Given the description of an element on the screen output the (x, y) to click on. 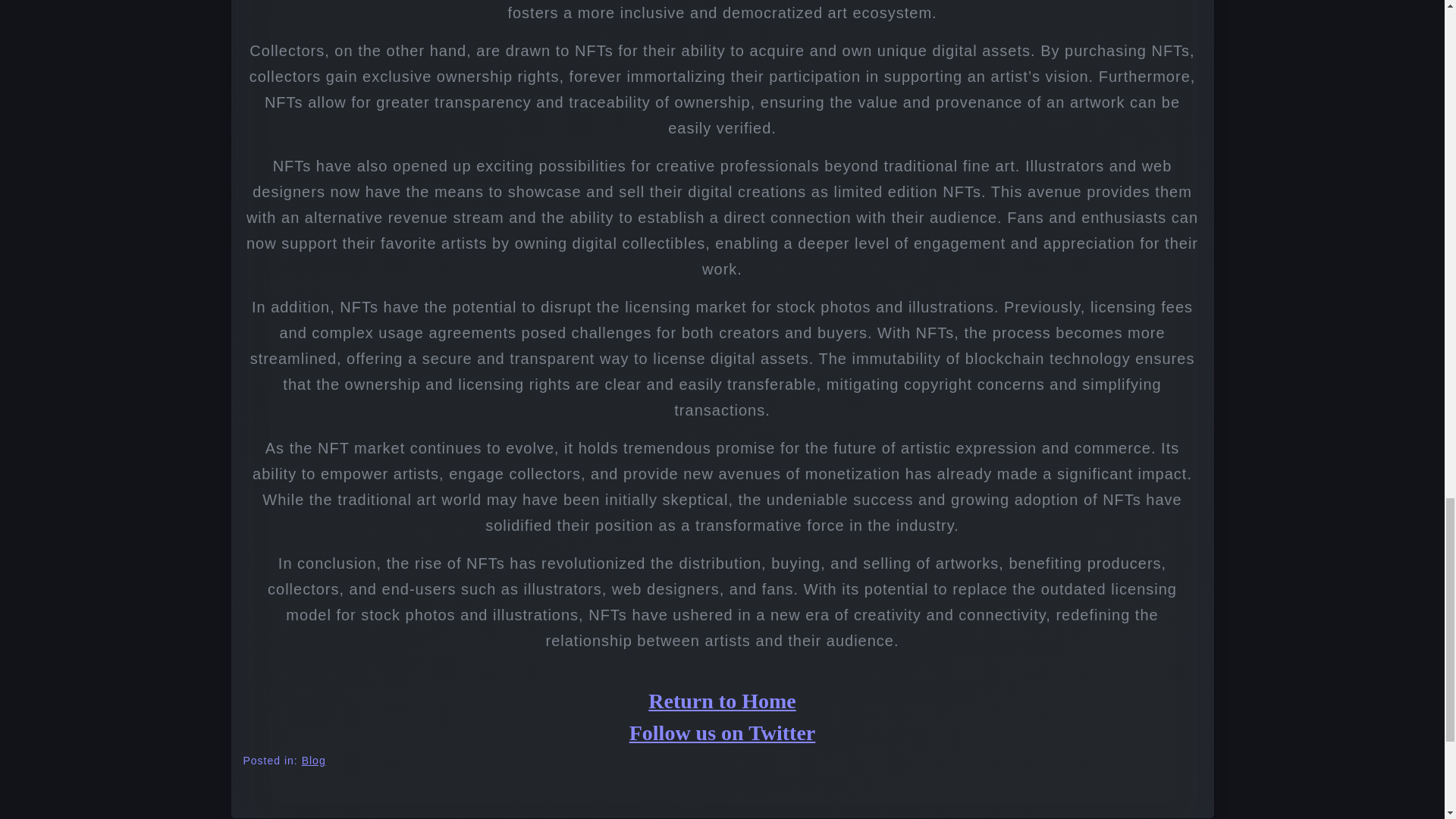
Return to Home (720, 701)
Follow us on Twitter (721, 733)
Blog (313, 761)
